Given the description of an element on the screen output the (x, y) to click on. 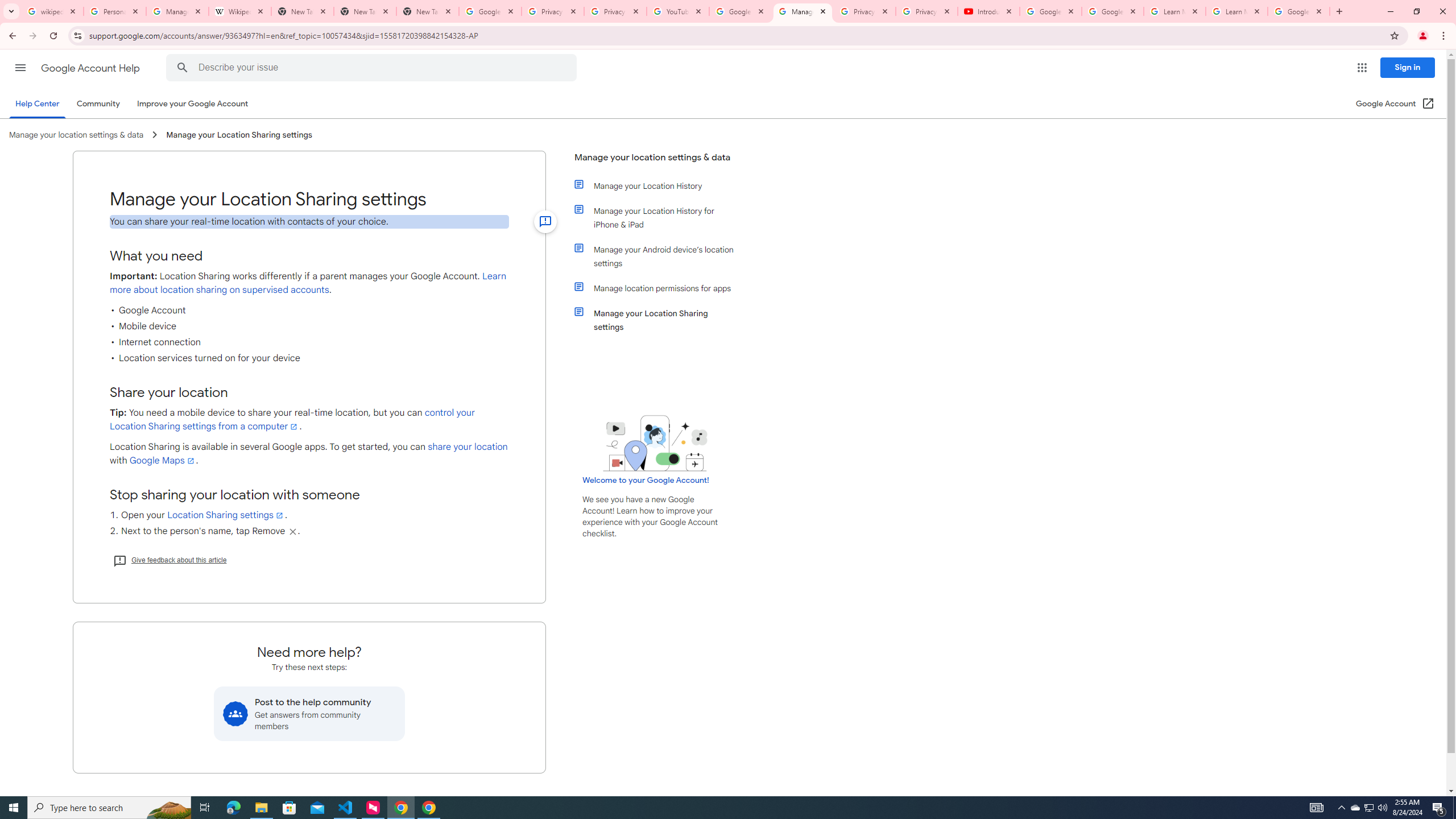
Google Account (1298, 11)
Introduction | Google Privacy Policy - YouTube (988, 11)
Manage location permissions for apps (661, 288)
Google Maps (162, 460)
Manage your Location Sharing settings (661, 319)
